Given the description of an element on the screen output the (x, y) to click on. 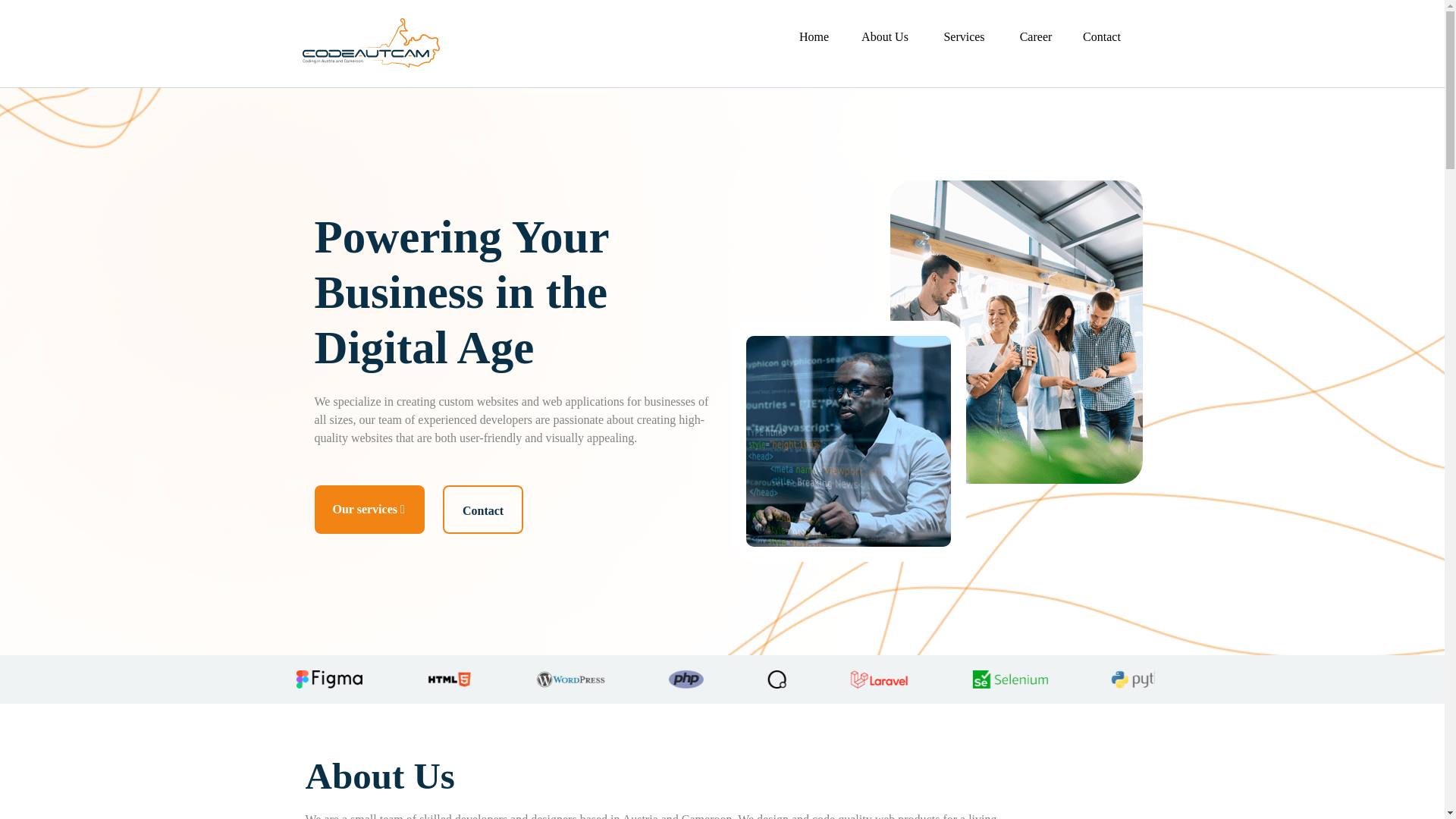
Contact (482, 509)
Services (963, 37)
Home (813, 37)
About Us (884, 37)
Career (1036, 37)
Contact (1102, 37)
Our services (368, 509)
